Given the description of an element on the screen output the (x, y) to click on. 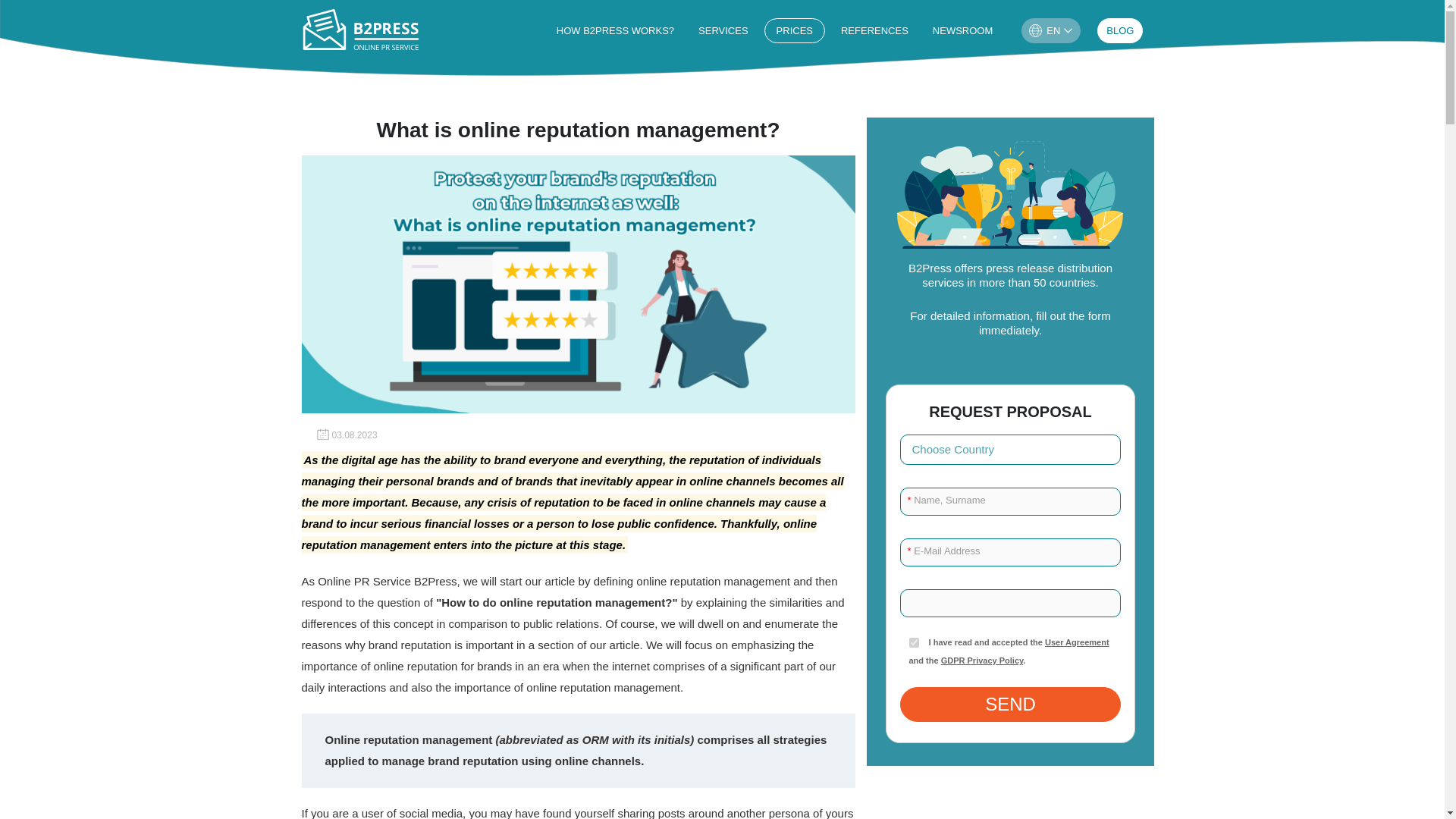
SEND (1010, 704)
HOW B2PRESS WORKS? (614, 30)
ok (913, 642)
GDPR Privacy Policy (981, 660)
SERVICES (722, 30)
REFERENCES (874, 30)
User Agreement (1077, 642)
b2press (362, 29)
CONTACT (1119, 30)
PRICES (794, 30)
